Given the description of an element on the screen output the (x, y) to click on. 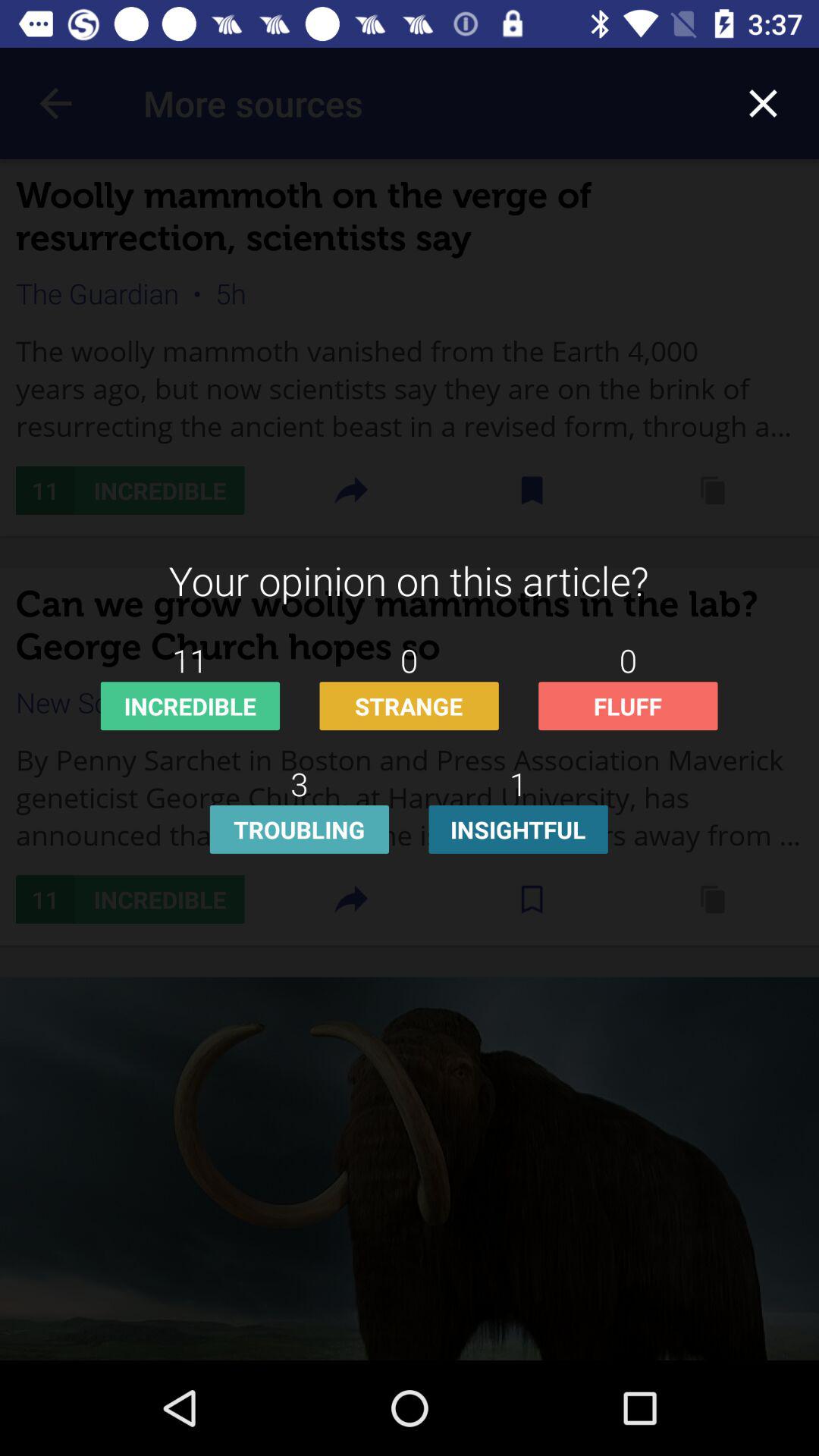
press icon above the woolly mammoth on (763, 103)
